Given the description of an element on the screen output the (x, y) to click on. 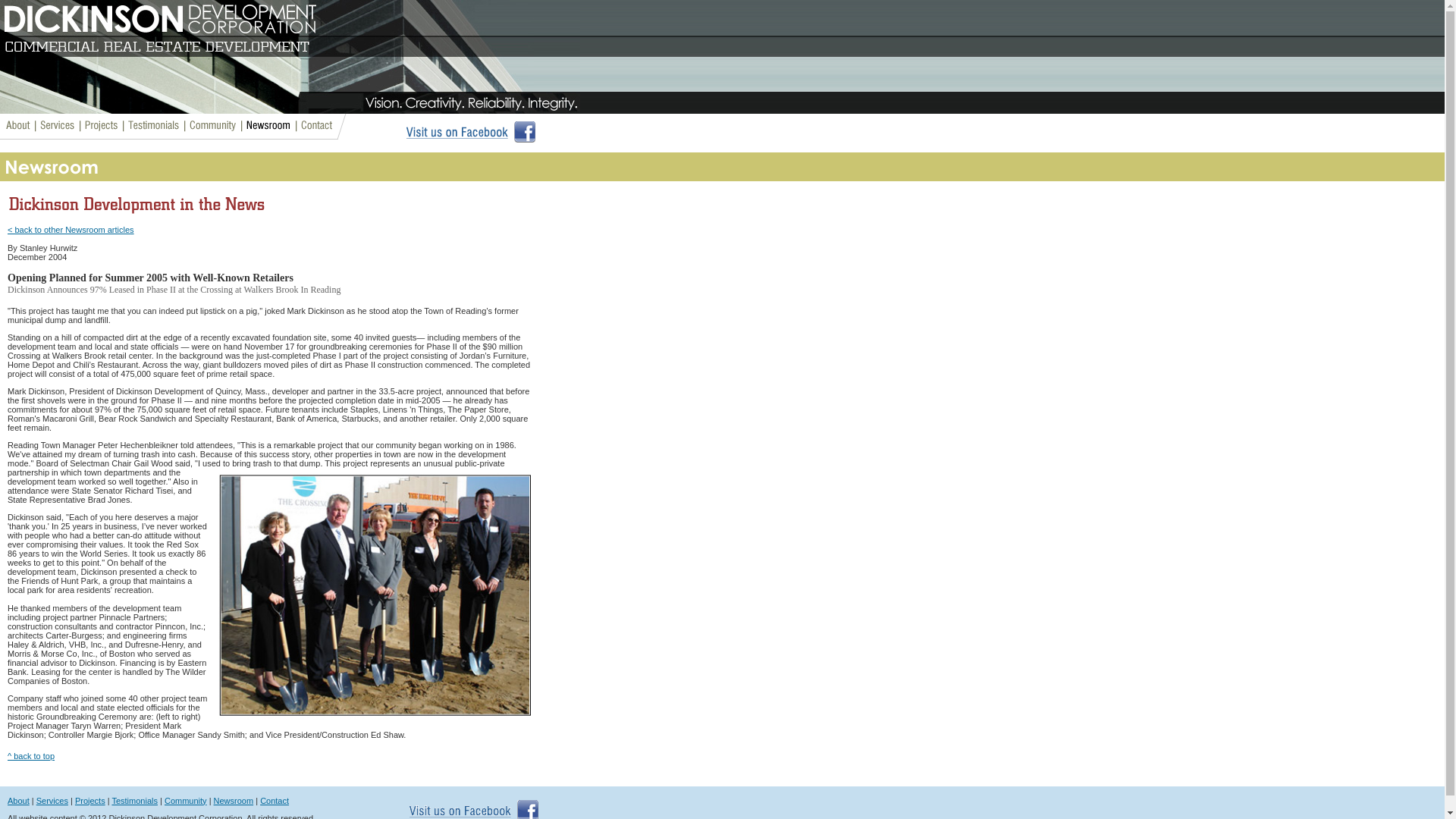
Services (52, 800)
Newsroom (233, 800)
Contact (274, 800)
Dickinson Home (289, 56)
Testimonials (134, 800)
About (18, 800)
Community (185, 800)
Projects (89, 800)
